Given the description of an element on the screen output the (x, y) to click on. 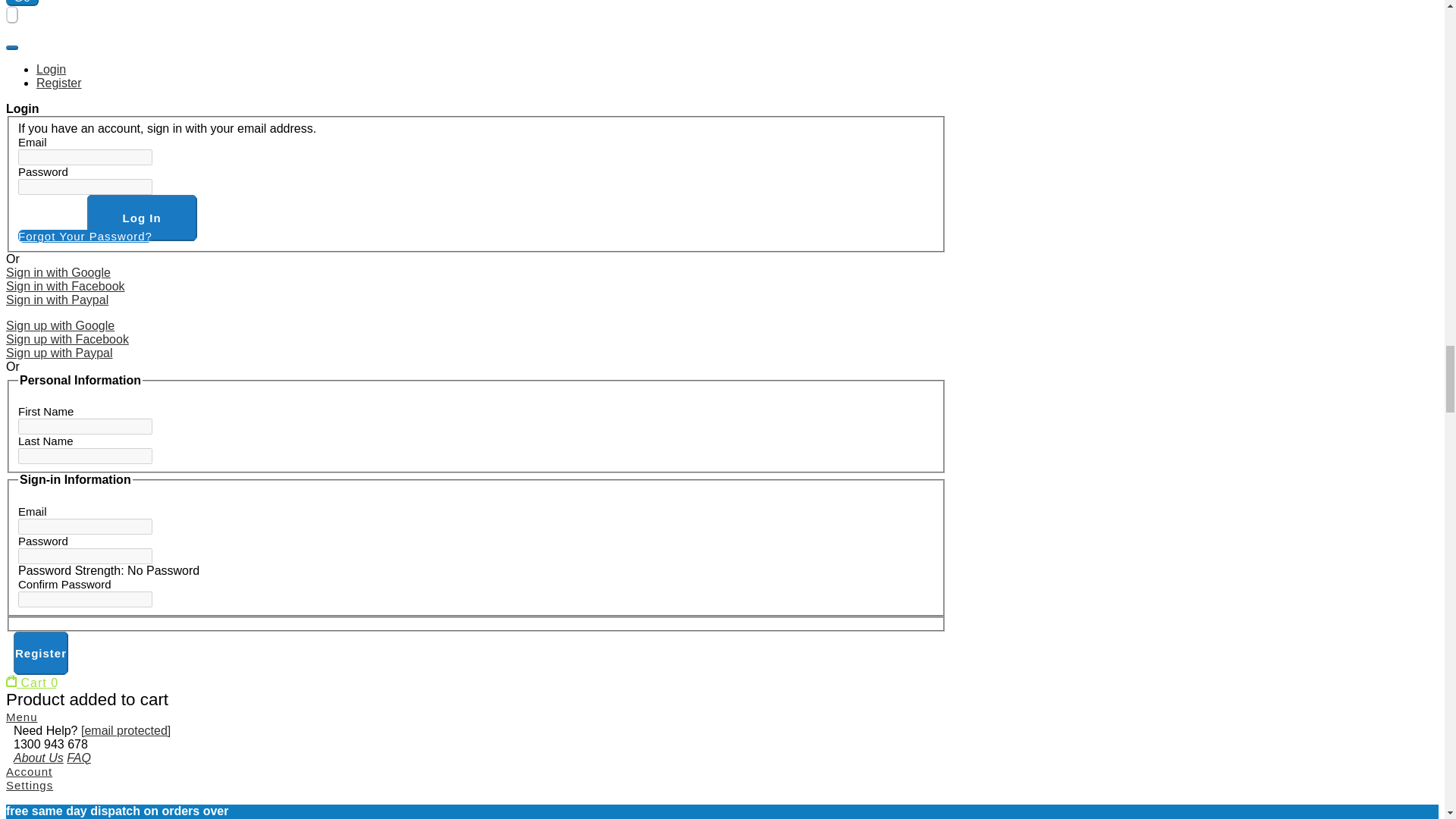
Last Name (84, 455)
First Name (84, 426)
Email (84, 526)
Link (65, 286)
Link (67, 338)
Go (22, 2)
Password (84, 555)
Link (56, 299)
Email (84, 157)
Link (57, 272)
Link (60, 325)
Register (40, 652)
Link (59, 352)
Confirm Password (84, 599)
Password (84, 186)
